Given the description of an element on the screen output the (x, y) to click on. 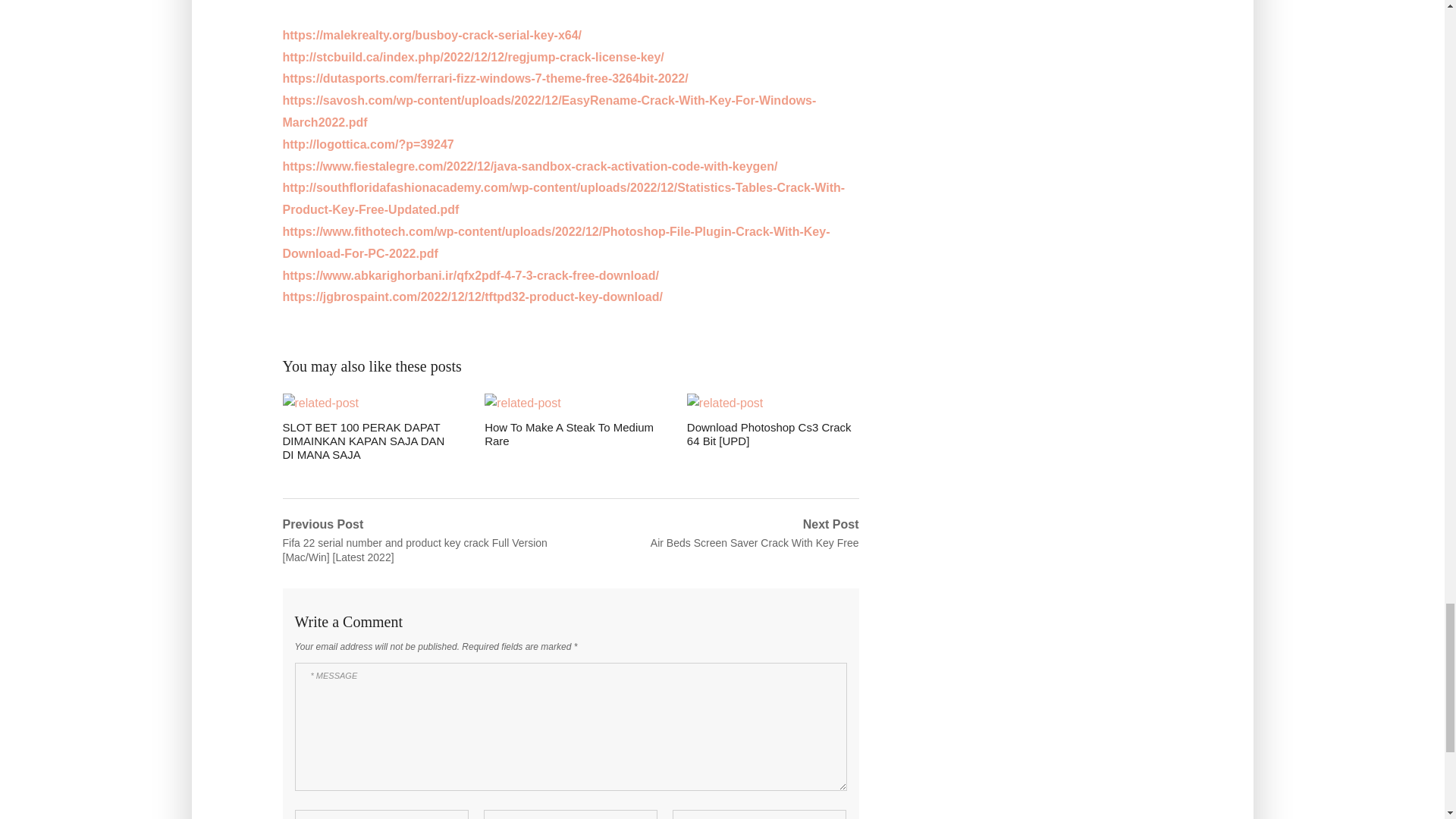
How To Make A Steak To Medium Rare (570, 420)
